Given the description of an element on the screen output the (x, y) to click on. 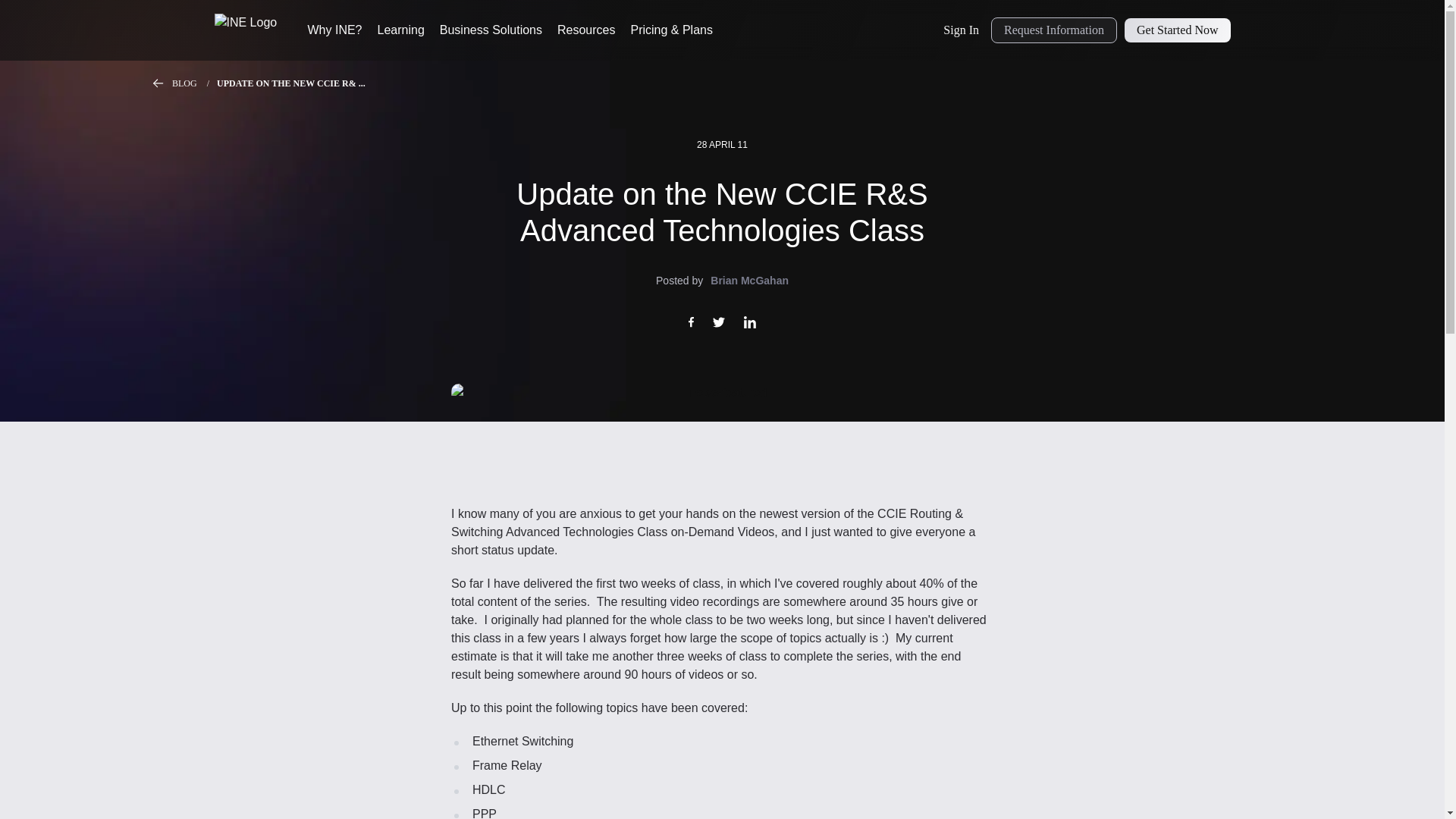
Resources (585, 30)
BLOG (193, 83)
Request Information (1053, 30)
Get Started Now (1177, 30)
Why INE? (334, 30)
Business Solutions (490, 30)
Sign In (961, 30)
